Given the description of an element on the screen output the (x, y) to click on. 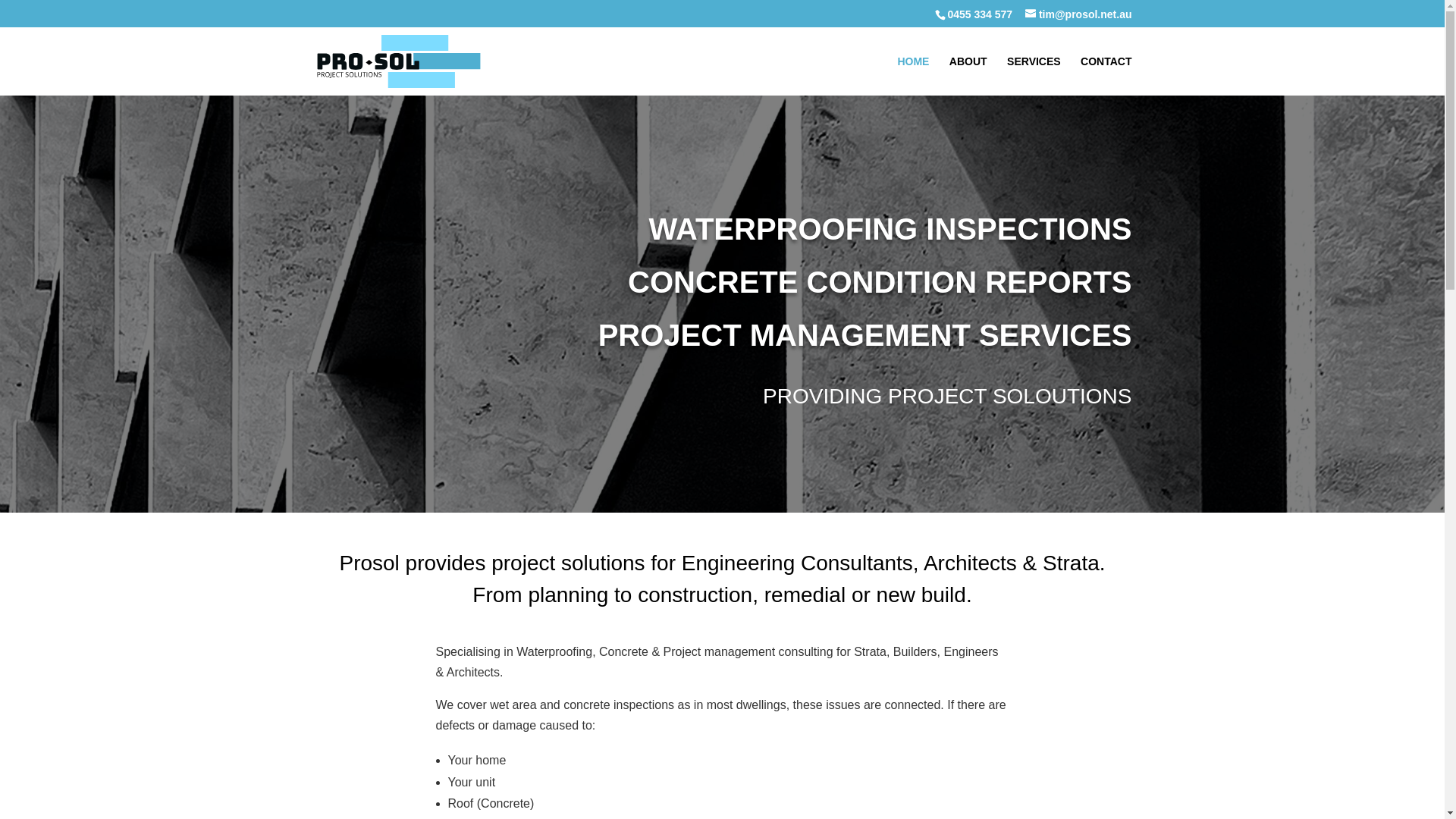
SERVICES Element type: text (1033, 75)
HOME Element type: text (912, 75)
CONTACT Element type: text (1105, 75)
ABOUT Element type: text (968, 75)
tim@prosol.net.au Element type: text (1078, 13)
